Given the description of an element on the screen output the (x, y) to click on. 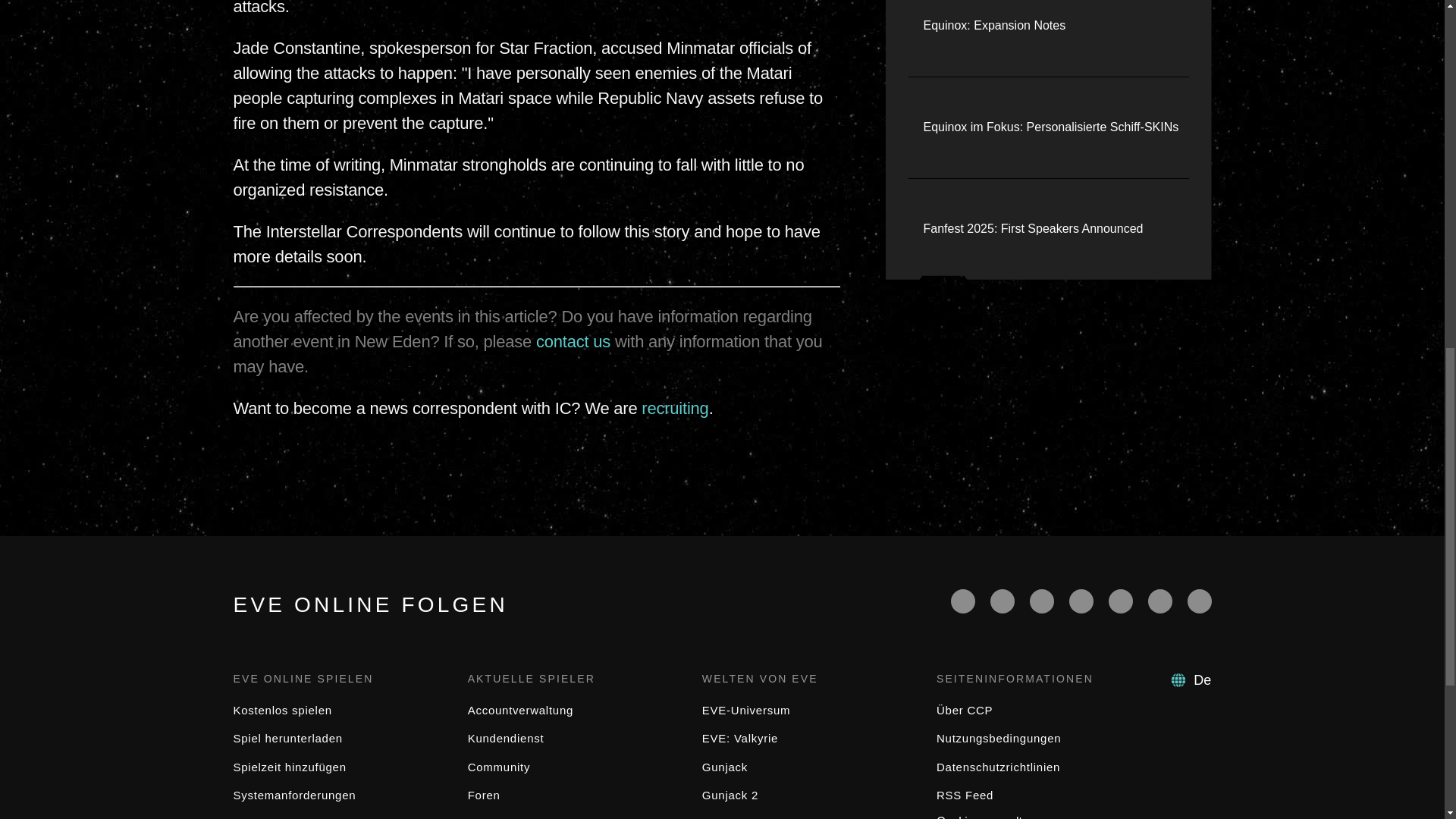
Spiel herunterladen (287, 738)
Equinox: Expansion Notes (994, 25)
Kostenlos spielen (281, 709)
YouTube (1041, 600)
Accountverwaltung (520, 709)
Community (499, 766)
VK (1199, 600)
Fanfest 2025: First Speakers Announced (1032, 229)
Systemanforderungen (294, 794)
Twitter (1002, 600)
Discord (1120, 600)
Equinox im Fokus: Personalisierte Schiff-SKINs (1051, 126)
Twitch (1080, 600)
Facebook (962, 600)
Kundendienst (505, 738)
